Given the description of an element on the screen output the (x, y) to click on. 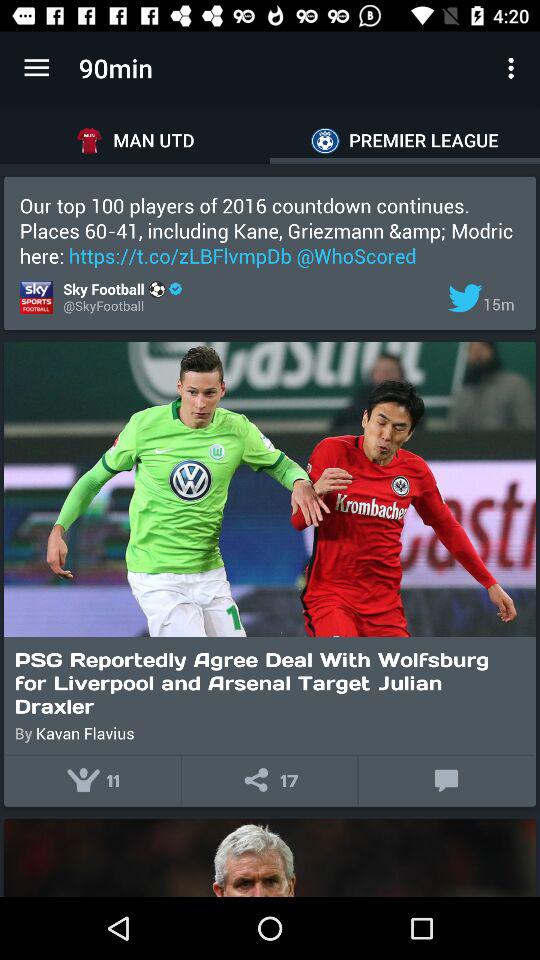
tap icon next to the 90min icon (36, 68)
